Given the description of an element on the screen output the (x, y) to click on. 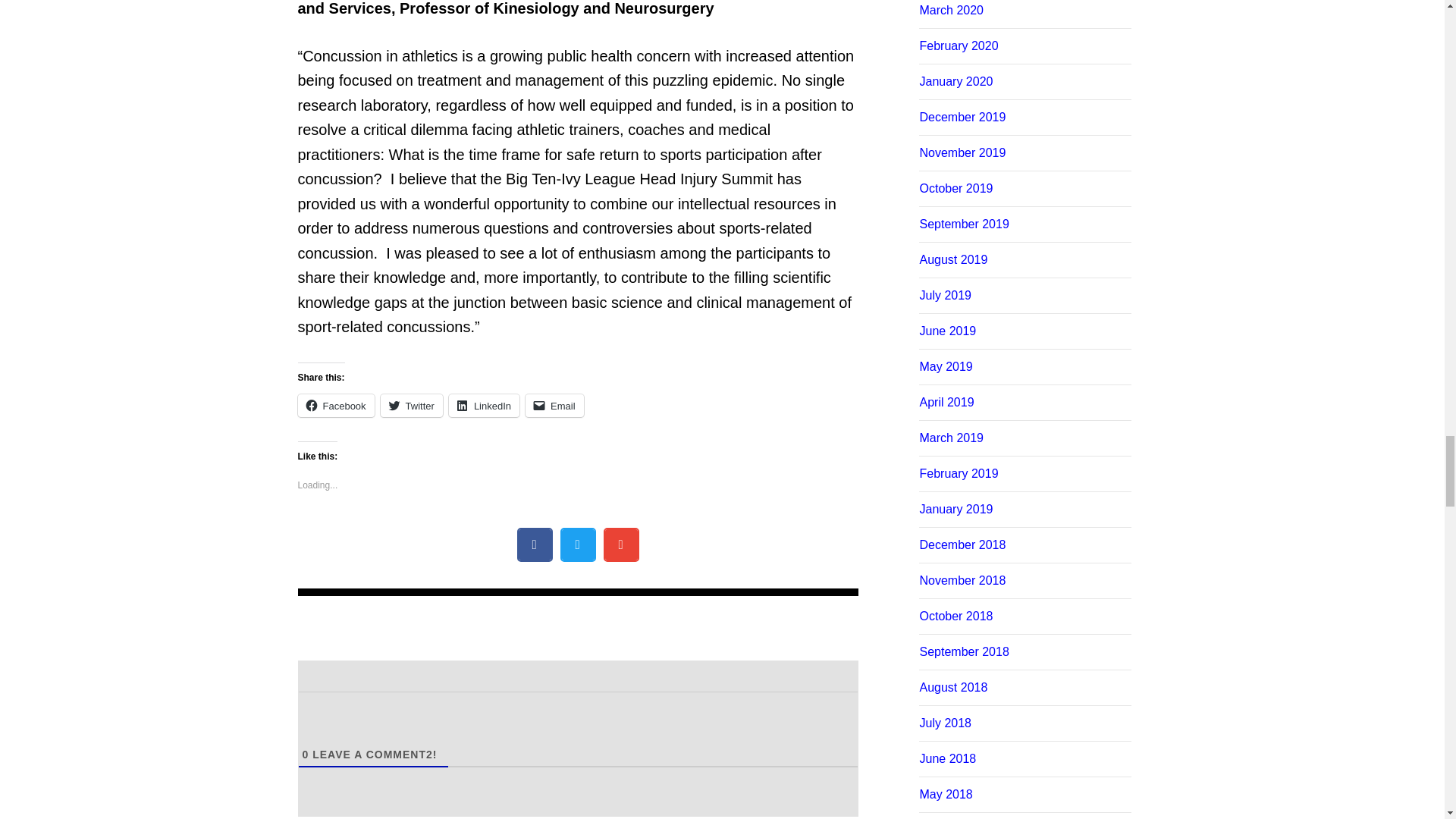
Click to share on LinkedIn (483, 404)
Click to share on Facebook (335, 404)
Click to email a link to a friend (554, 404)
Twitter (411, 404)
Click to share on Twitter (411, 404)
Facebook (335, 404)
Email (554, 404)
LinkedIn (483, 404)
